Given the description of an element on the screen output the (x, y) to click on. 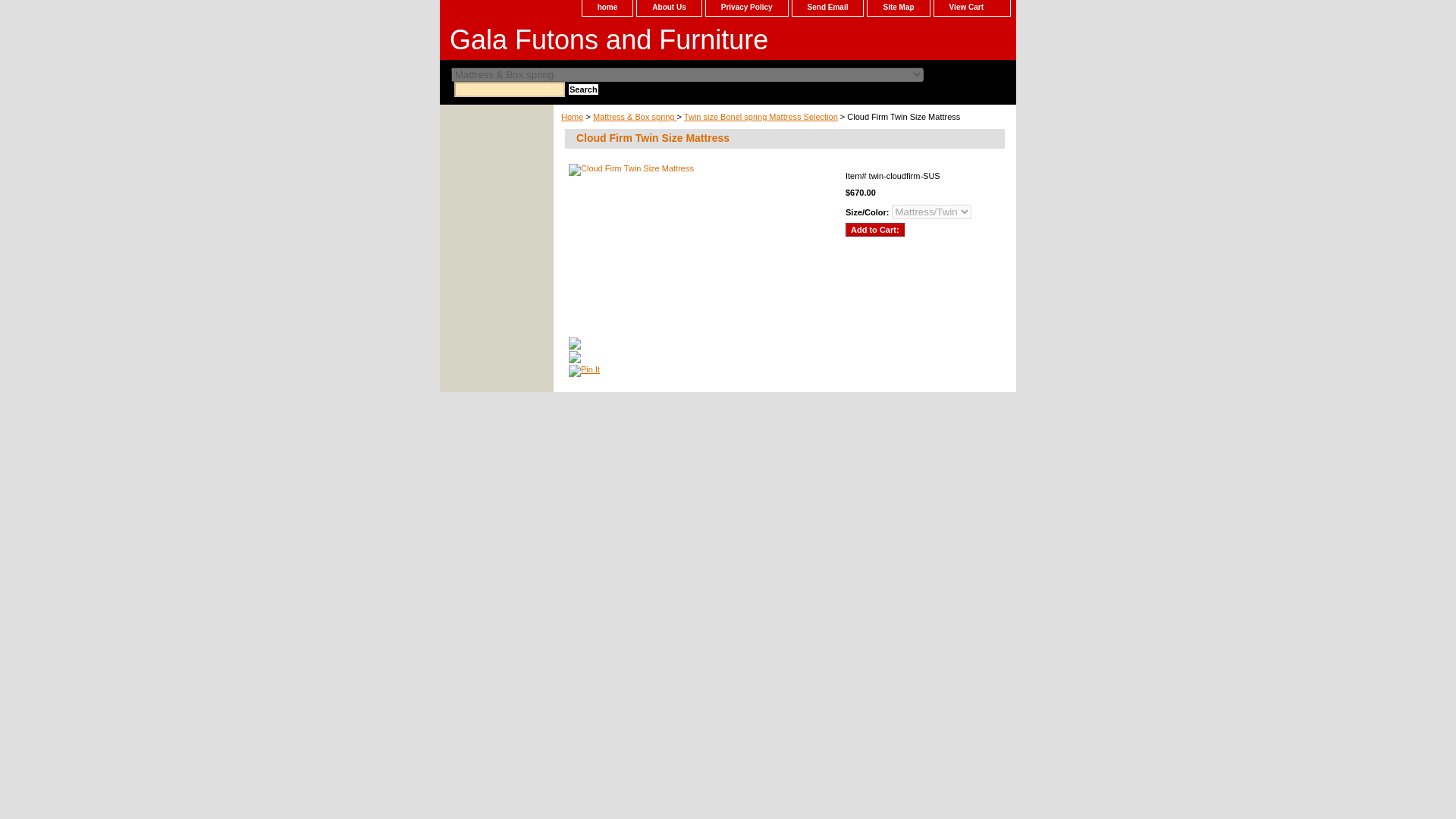
Add to Cart: (874, 229)
Gala Futons and Furniture (628, 41)
Search (583, 89)
View Cart (972, 7)
Cloud Firm Twin Size Mattress (701, 246)
Twin size Bonel spring Mattress Selection (761, 116)
Pin It (584, 370)
Tweet (574, 346)
Add to Cart: (874, 229)
home (607, 7)
Privacy Policy (746, 7)
About Us (668, 7)
Send Email (827, 7)
Add to Cart: (874, 229)
Gala Futons and Furniture (628, 41)
